Given the description of an element on the screen output the (x, y) to click on. 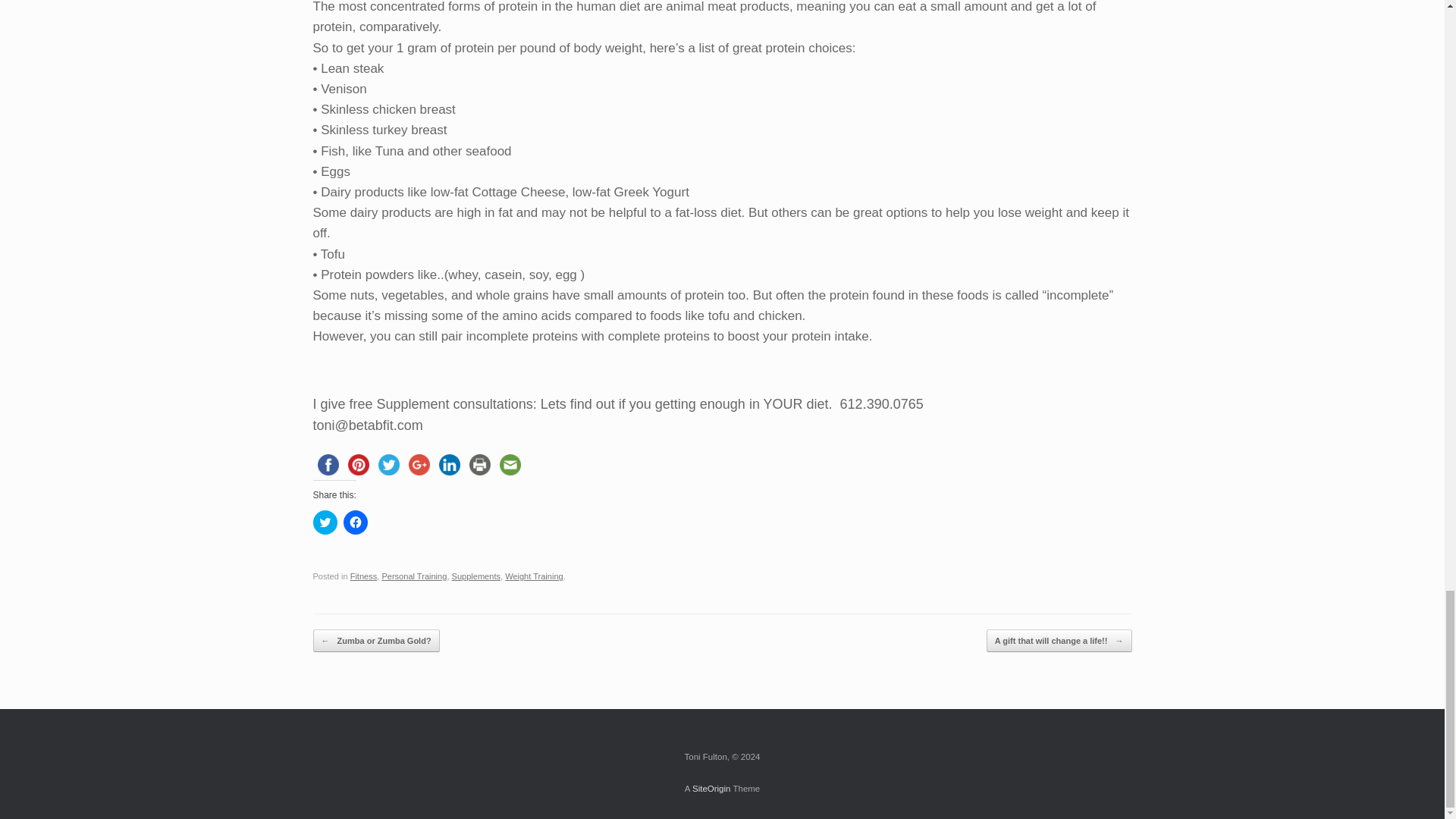
Weight Training (534, 575)
linkedin (448, 464)
email (509, 464)
Fitness (363, 575)
facebook (327, 464)
Personal Training (413, 575)
twitter (387, 464)
print (479, 464)
SiteOrigin (711, 788)
Supplements (475, 575)
pinterest (357, 464)
google (418, 464)
